Given the description of an element on the screen output the (x, y) to click on. 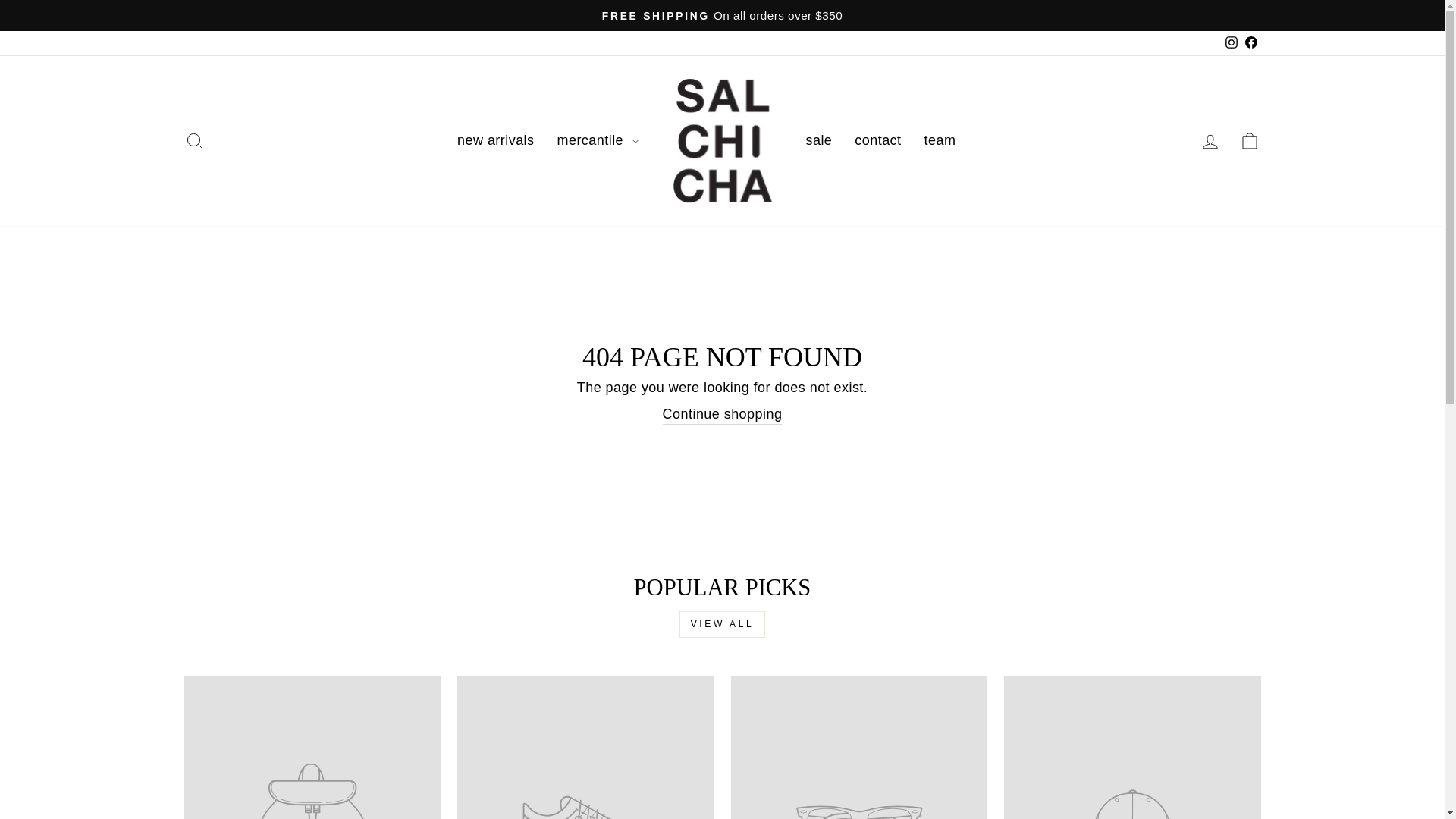
icon-search (194, 140)
instagram (1231, 42)
icon-bag-minimal (1249, 140)
account (1210, 141)
